Given the description of an element on the screen output the (x, y) to click on. 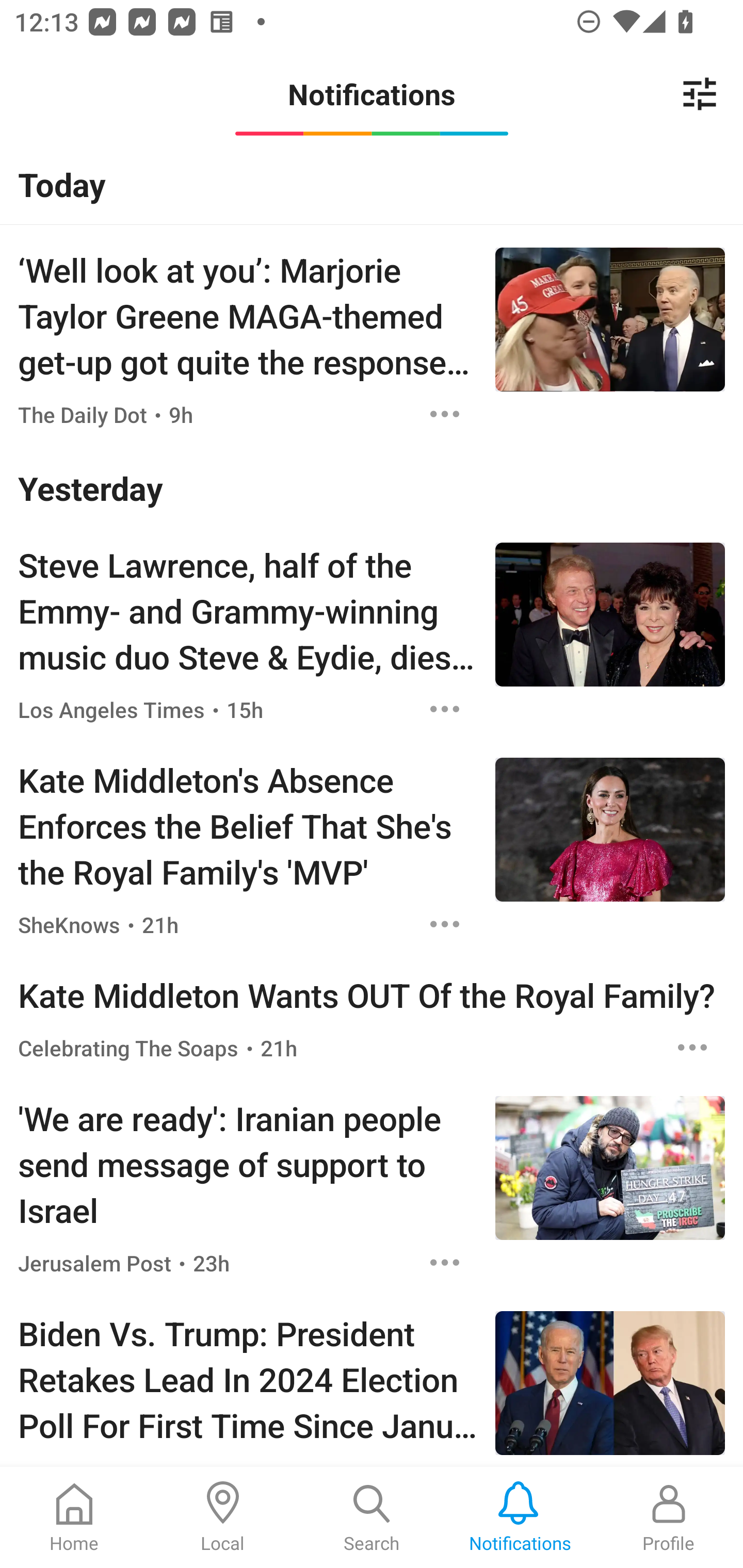
Notification Settings (699, 93)
Options (444, 413)
Yesterday (371, 488)
Options (444, 708)
Options (444, 924)
Options (692, 1047)
Options (444, 1262)
Home (74, 1517)
Local (222, 1517)
Search (371, 1517)
Profile (668, 1517)
